Given the description of an element on the screen output the (x, y) to click on. 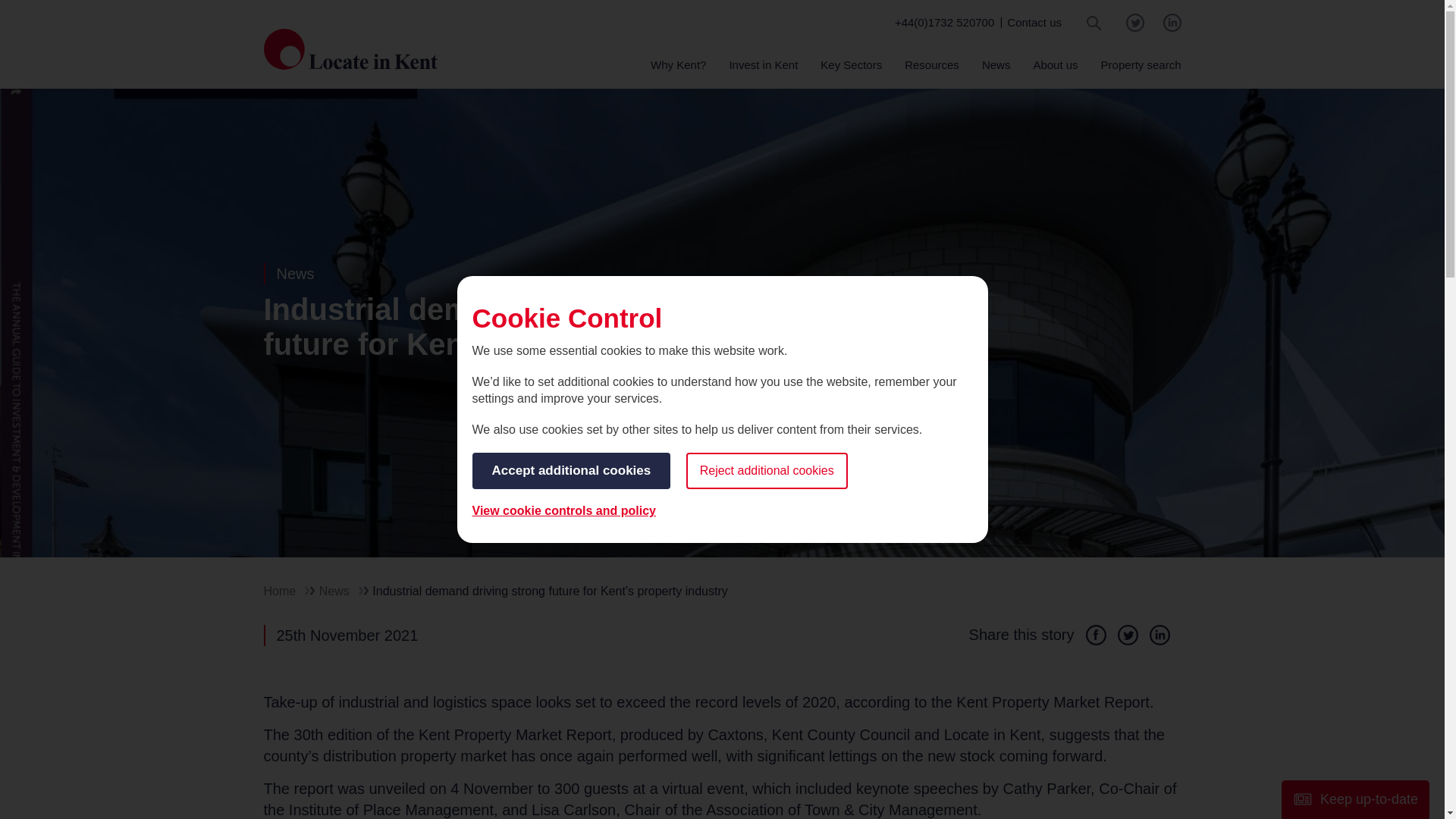
View cookie controls and policy (563, 510)
Reject additional cookies (766, 470)
About us (1054, 72)
Key Sectors (851, 72)
Resources (931, 72)
Why Kent? (678, 72)
Invest in Kent (763, 72)
Accept additional cookies (570, 470)
Contact us (1034, 21)
